Given the description of an element on the screen output the (x, y) to click on. 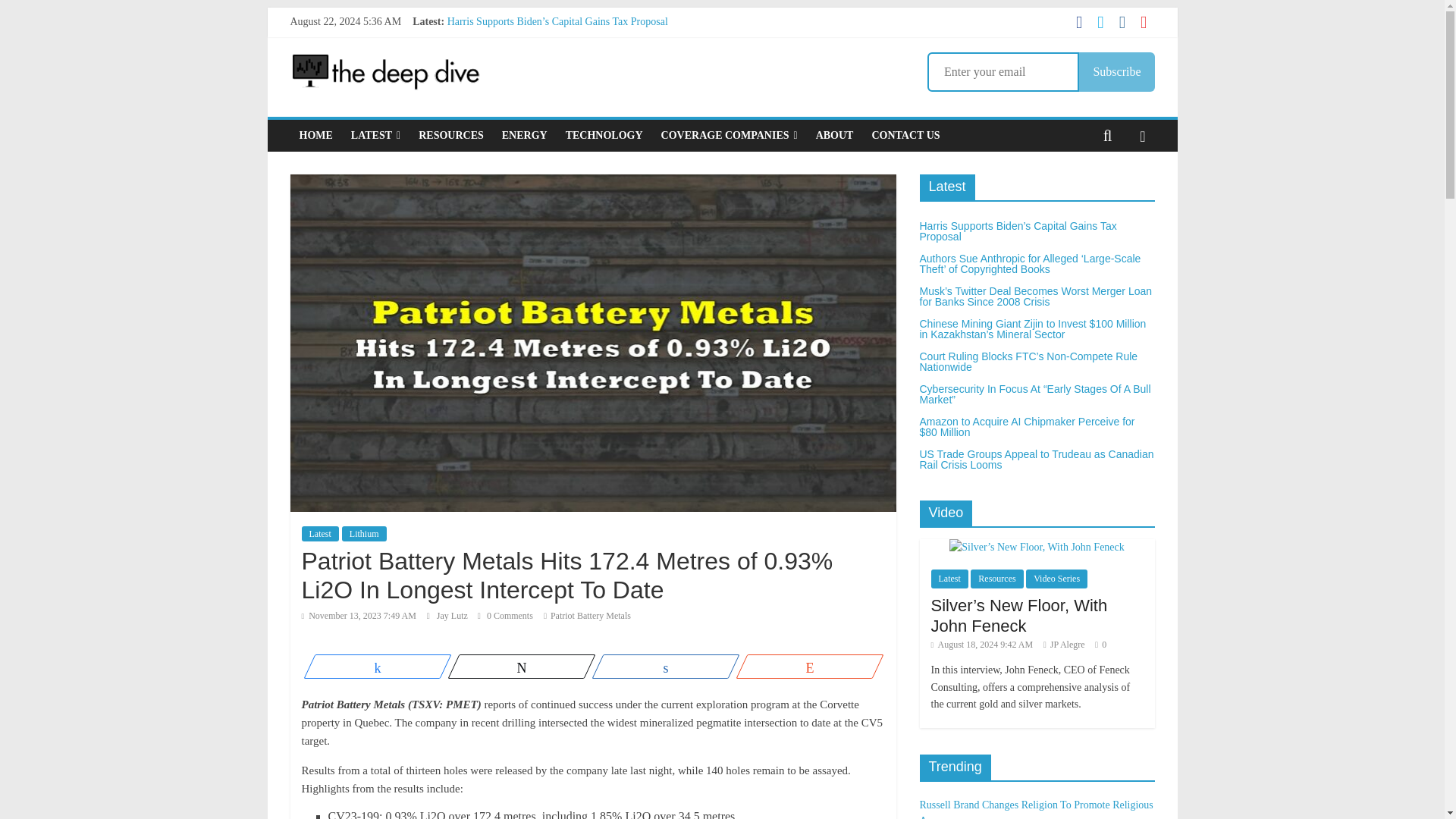
TECHNOLOGY (604, 135)
7:49 am (358, 615)
Jay Lutz (453, 615)
COVERAGE COMPANIES (729, 135)
RESOURCES (451, 135)
HOME (314, 135)
ENERGY (524, 135)
LATEST (375, 135)
